Given the description of an element on the screen output the (x, y) to click on. 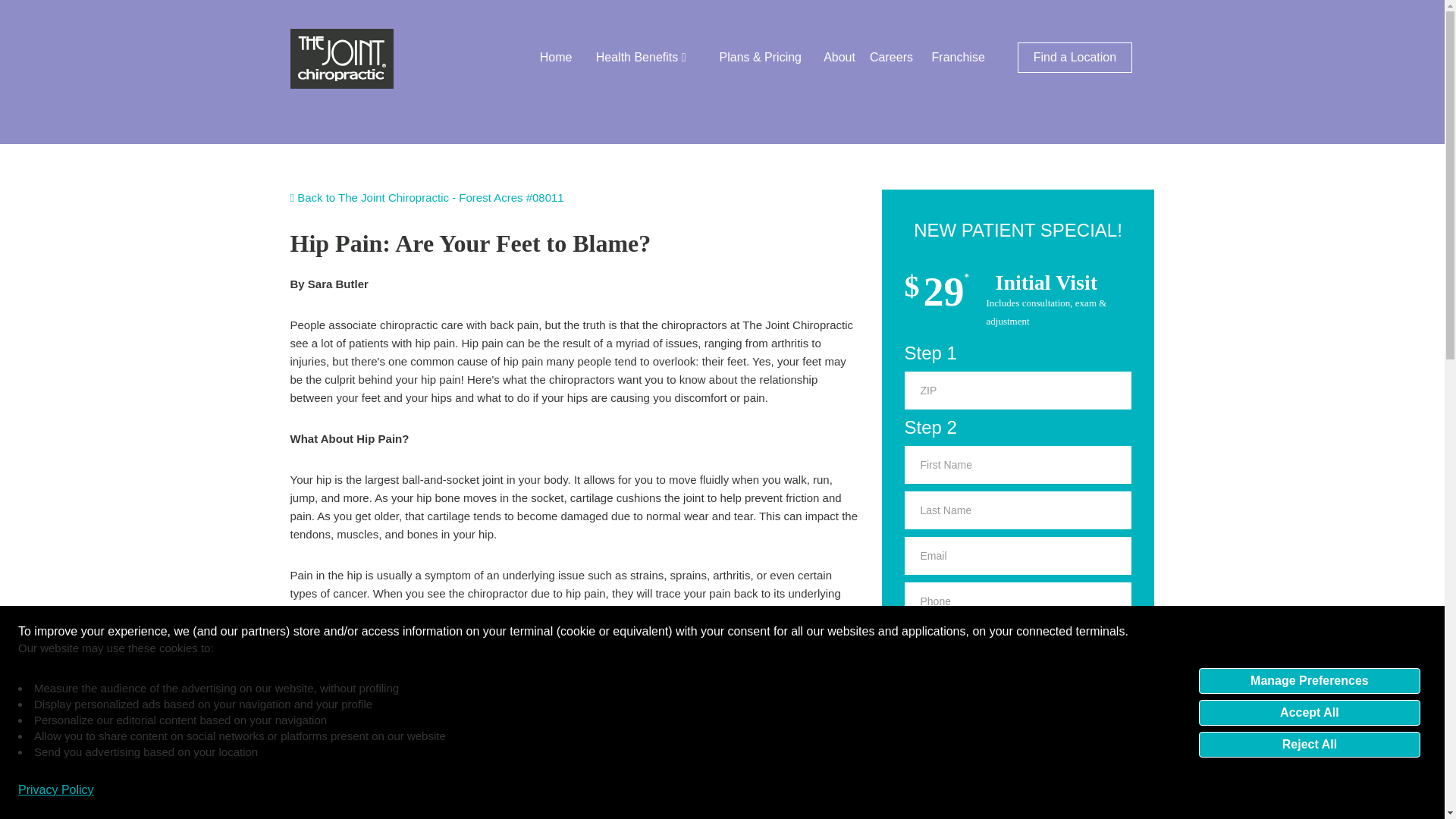
Manage Preferences (1309, 679)
Clinic Nearest you. (1018, 692)
1 (911, 728)
Home (556, 57)
Accept All (1309, 711)
About (840, 57)
Health Benefits (640, 57)
Franchise (958, 57)
Careers (890, 57)
Reject All (1309, 743)
